Given the description of an element on the screen output the (x, y) to click on. 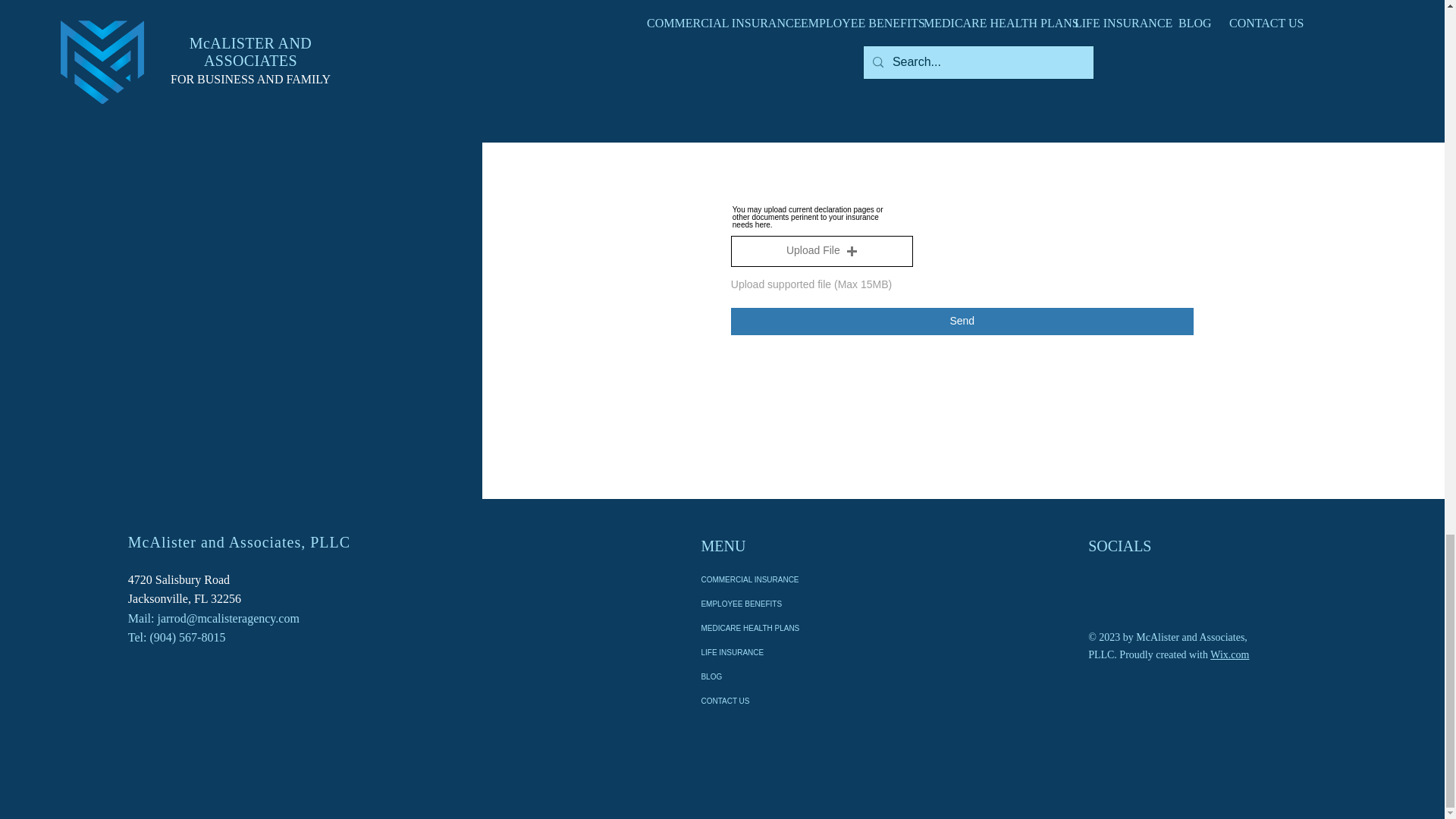
MEDICARE HEALTH PLANS (771, 628)
LIFE INSURANCE (771, 652)
Send (961, 320)
BLOG (771, 677)
COMMERCIAL INSURANCE (771, 580)
CONTACT US (771, 701)
EMPLOYEE BENEFITS (771, 604)
McAlister and Associates, PLLC (239, 541)
Wix.com (1229, 654)
